Given the description of an element on the screen output the (x, y) to click on. 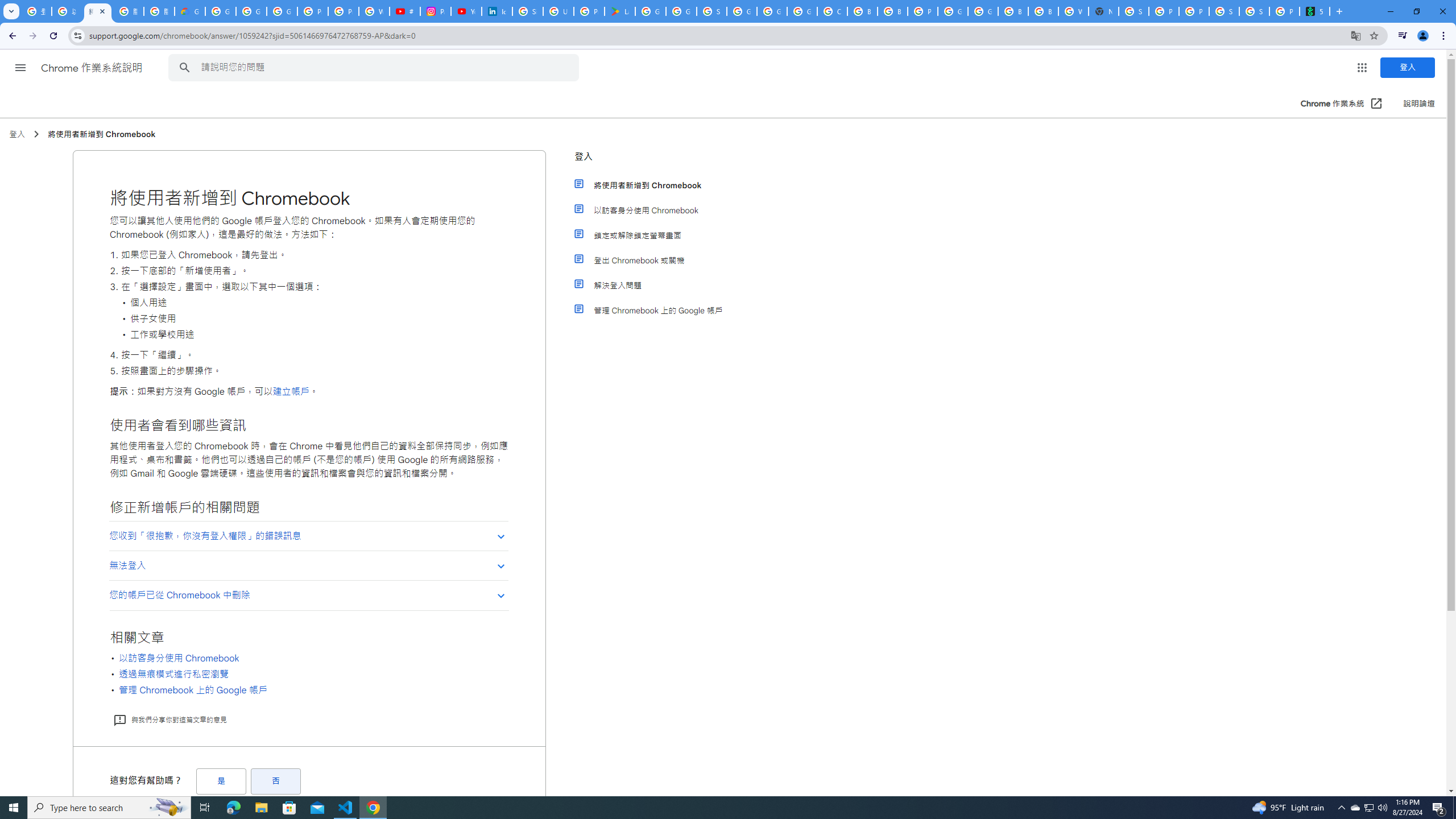
Browse Chrome as a guest - Computer - Google Chrome Help (1012, 11)
Control your music, videos, and more (1402, 35)
Address and search bar (715, 35)
